Given the description of an element on the screen output the (x, y) to click on. 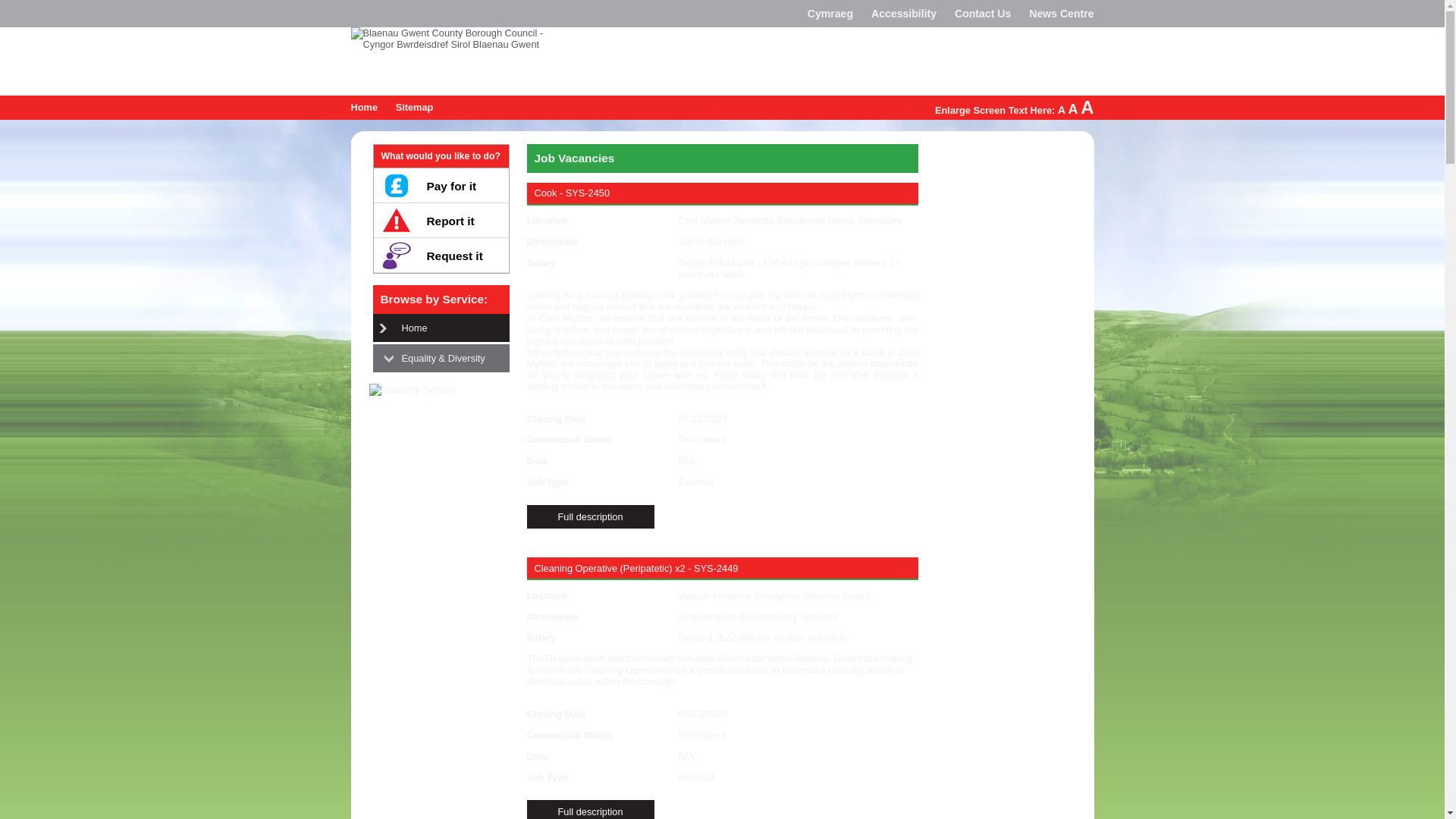
A Element type: text (1061, 109)
Cymraeg Element type: text (830, 13)
Equality & Diversity Element type: text (451, 358)
Contact Us Element type: text (982, 13)
News Centre Element type: text (1061, 13)
Request it Element type: text (440, 255)
Accessibility Element type: text (903, 13)
Home Element type: text (363, 106)
Pay for it Element type: text (440, 185)
Sitemap Element type: text (414, 106)
Home Element type: text (451, 327)
A Element type: text (1086, 107)
Report it Element type: text (440, 220)
A Element type: text (1073, 108)
Full description Element type: text (589, 516)
